Given the description of an element on the screen output the (x, y) to click on. 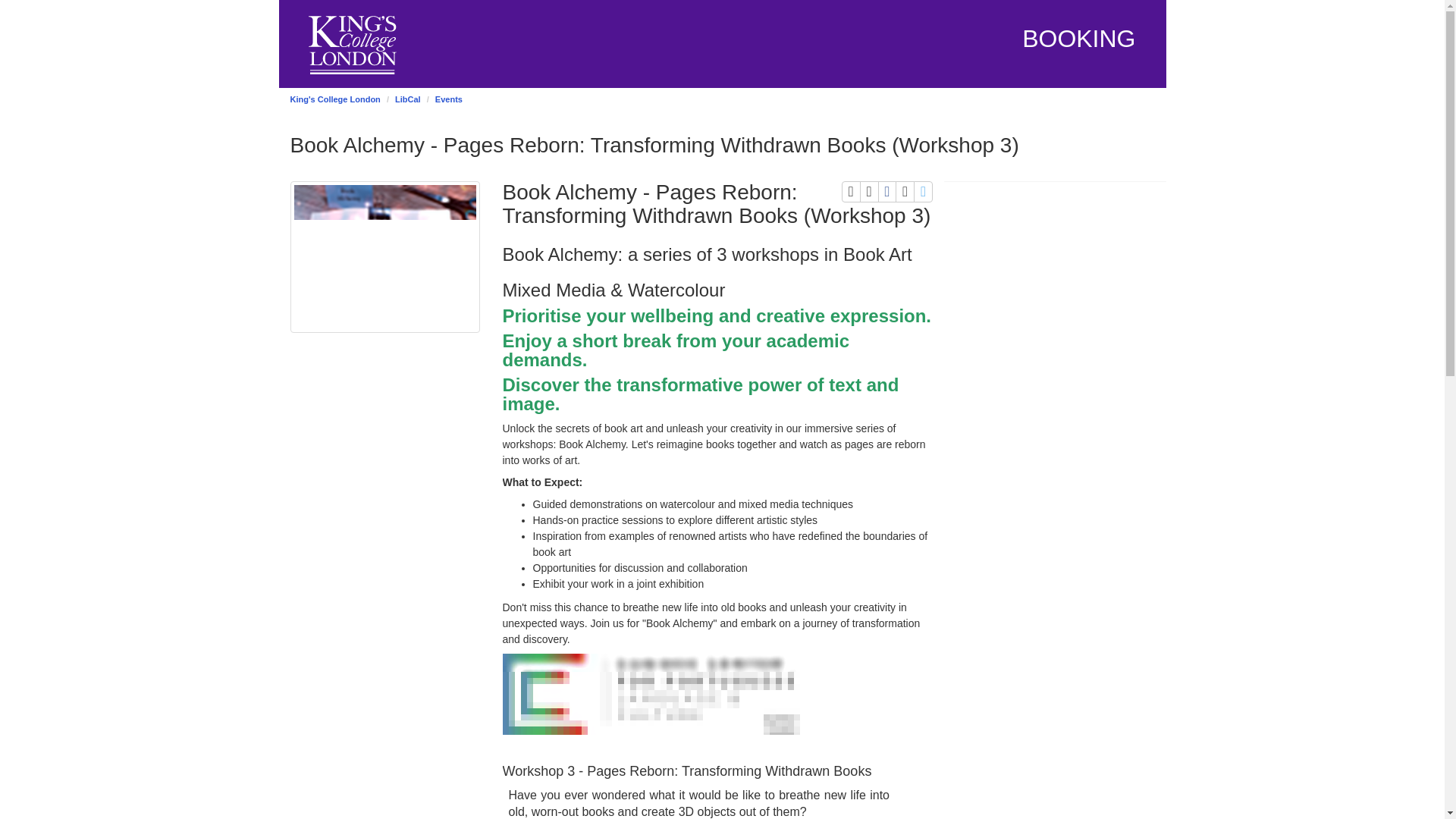
Add to a Calendar using iCal (869, 191)
LibCal (407, 99)
Events (904, 191)
Print the page (449, 99)
King's College London (850, 191)
